Given the description of an element on the screen output the (x, y) to click on. 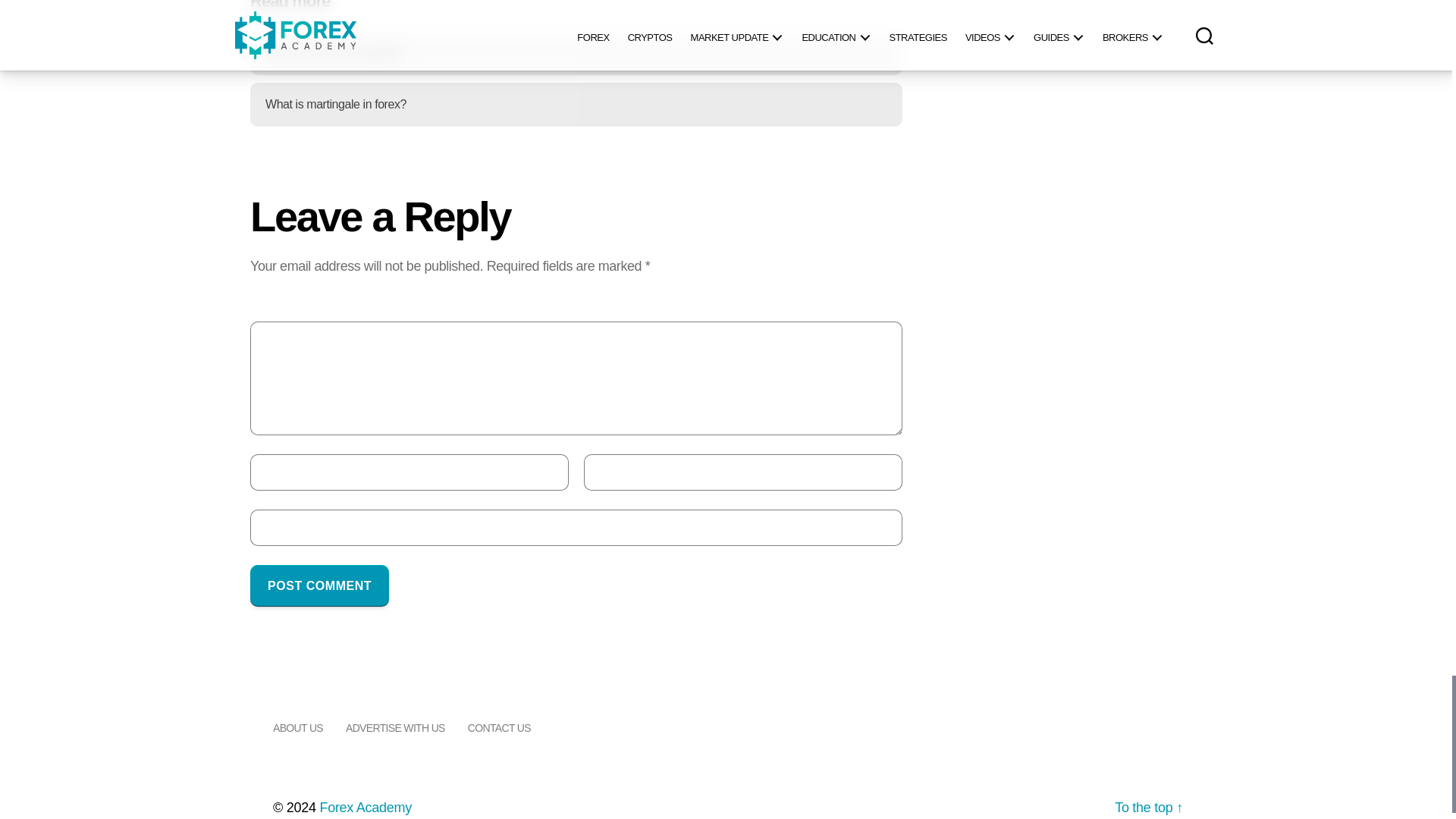
Post Comment (319, 585)
